Given the description of an element on the screen output the (x, y) to click on. 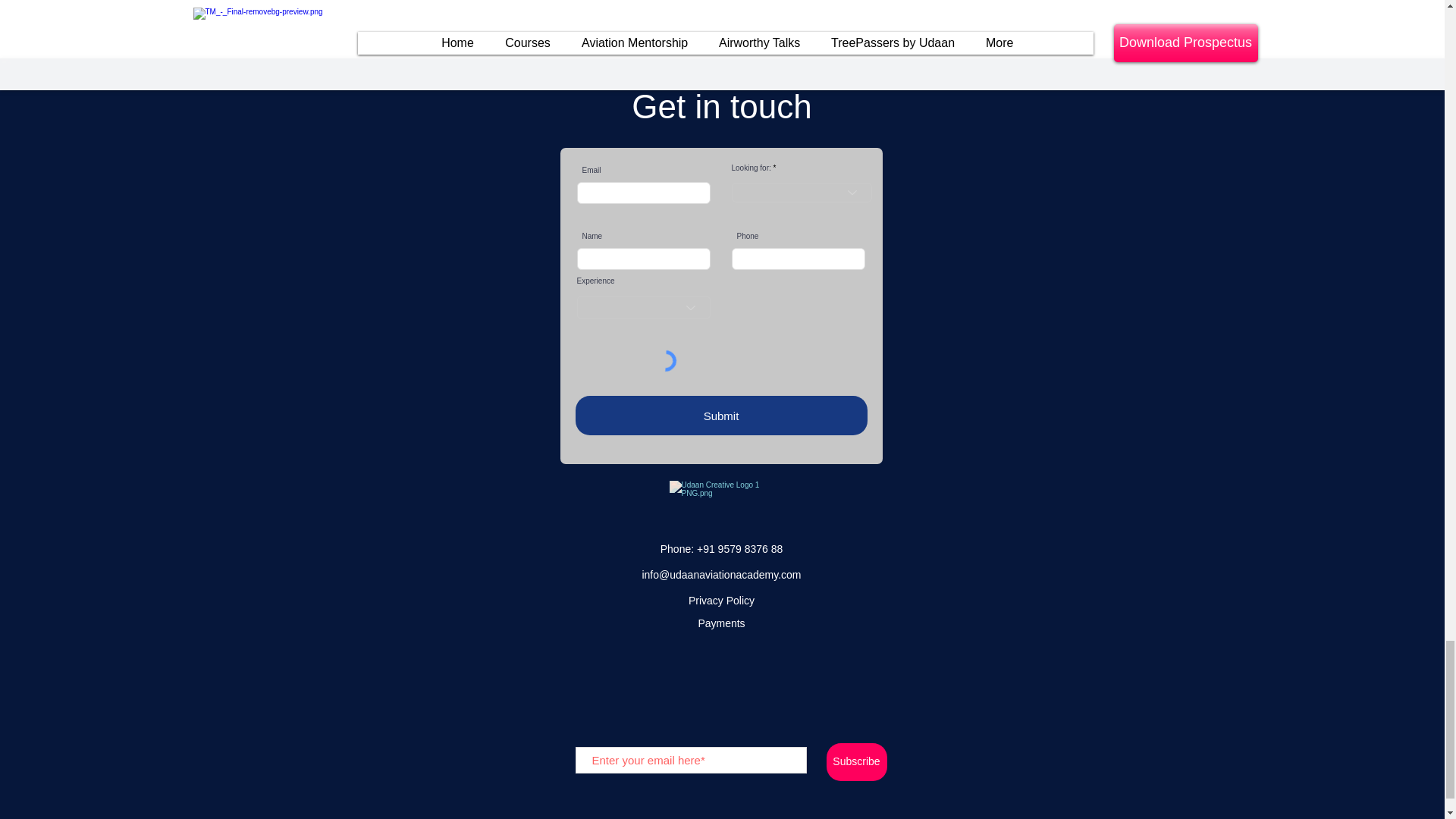
Privacy Policy (721, 600)
With Solid Black Background.jpg (720, 503)
Subscribe (856, 761)
Submit (720, 414)
Payments (720, 623)
